Given the description of an element on the screen output the (x, y) to click on. 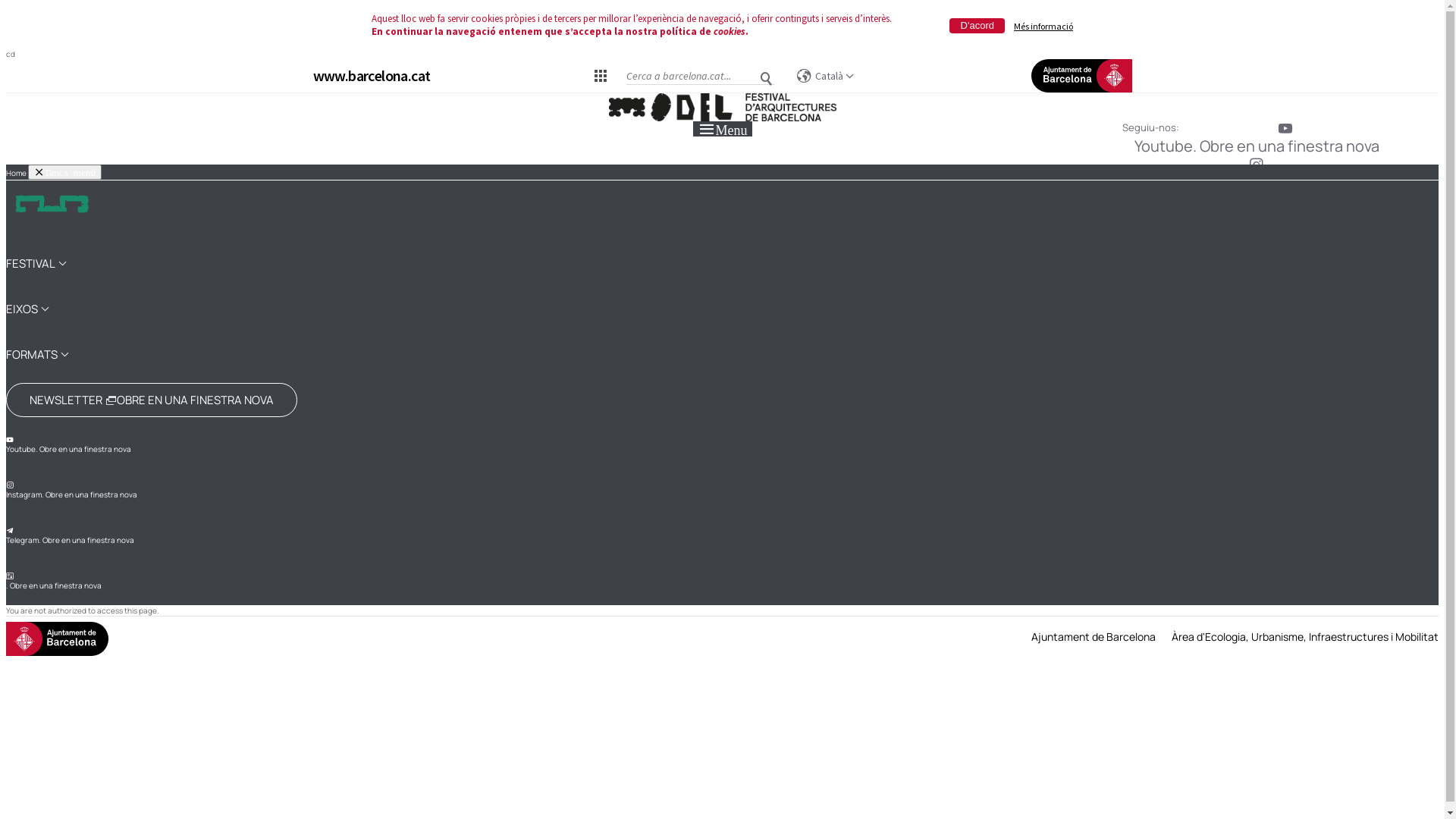
cookies Element type: text (729, 31)
D'acord Element type: text (976, 25)
NEWSLETTER
OBRE EN UNA FINESTRA NOVA Element type: text (151, 399)
Menu Element type: text (722, 128)
Telegram. Obre en una finestra nova Element type: text (1253, 209)
Instagram. Obre en una finestra nova Element type: text (1253, 173)
Home Element type: text (16, 172)
Instagram. Obre en una finestra nova Element type: text (71, 490)
. Obre en una finestra nova Element type: text (1253, 246)
. Obre en una finestra nova Element type: text (53, 581)
Youtube. Obre en una finestra nova Element type: text (68, 445)
HOME Element type: text (51, 210)
Skip to main content Element type: text (6, 93)
www.barcelona.cat Element type: text (370, 74)
Home Element type: hover (721, 107)
Dreceres de barcelona.cat Element type: hover (600, 74)
Youtube. Obre en una finestra nova Element type: text (1253, 137)
Telegram. Obre en una finestra nova Element type: text (70, 536)
Ajuntament de Barcelona Element type: text (1093, 636)
